Given the description of an element on the screen output the (x, y) to click on. 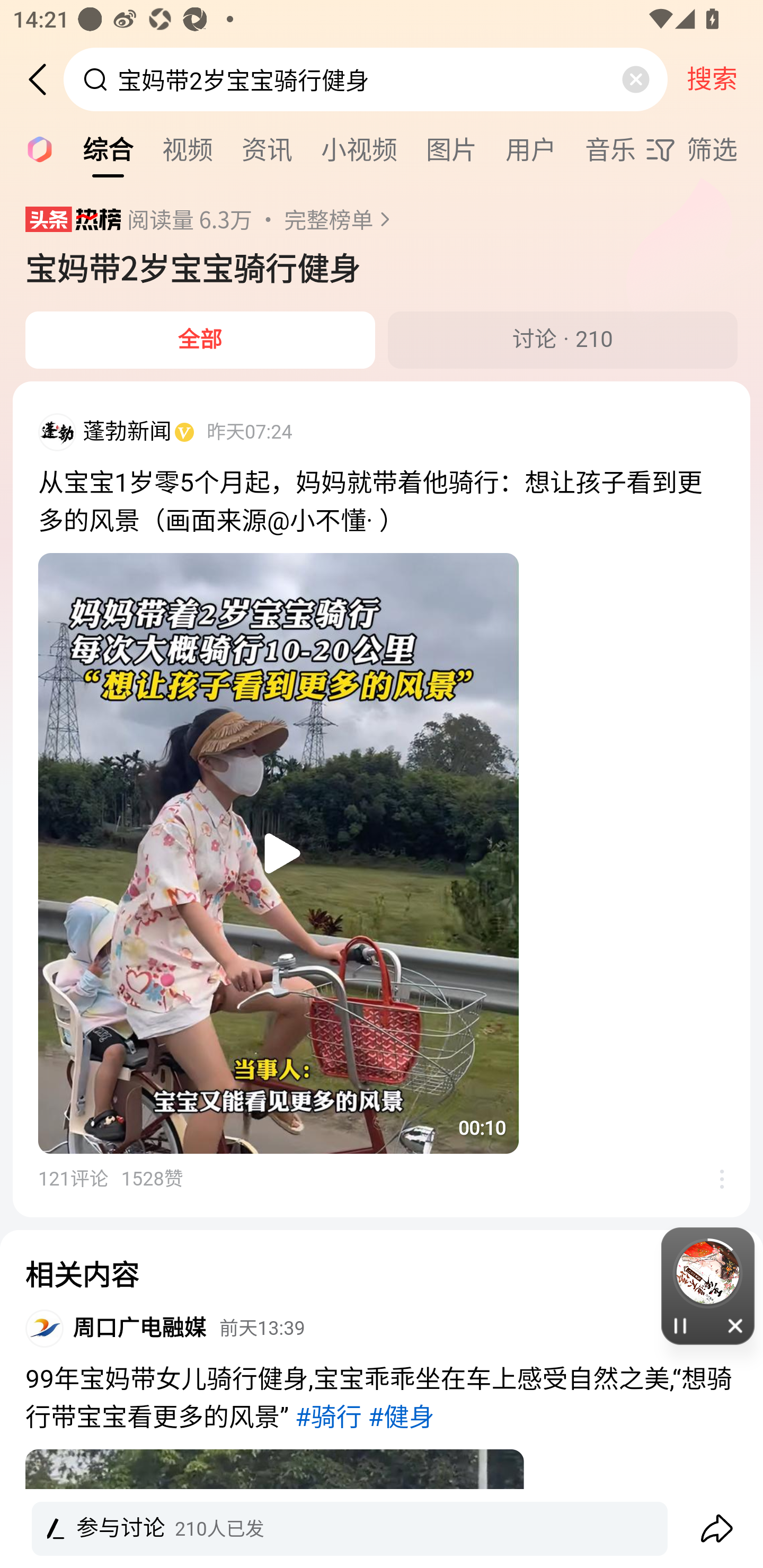
搜索框，宝妈带2岁宝宝骑行健身 (366, 79)
搜索 (711, 79)
返回 (44, 79)
清除 (635, 79)
视频 (187, 148)
资讯 (266, 148)
小视频 (359, 148)
图片 (451, 148)
用户 (530, 148)
音乐 (610, 148)
筛选 (703, 149)
AI问答 (34, 148)
暂停 关闭 (708, 1286)
暂停 (680, 1325)
关闭 (736, 1325)
